Given the description of an element on the screen output the (x, y) to click on. 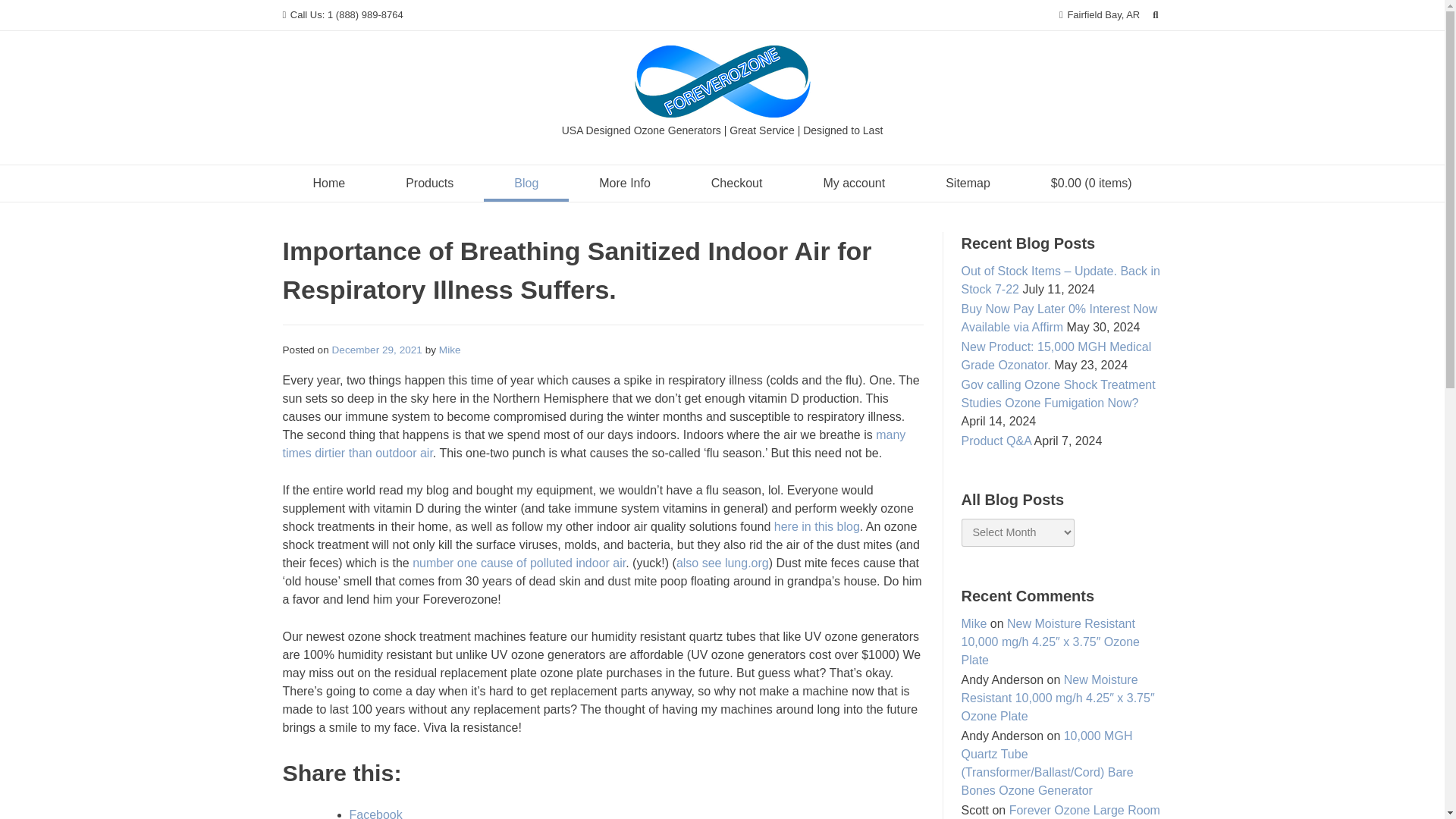
More Info (625, 183)
Click to share on Facebook (375, 813)
Products (429, 183)
Home (328, 183)
View your shopping cart (1090, 183)
Blog (526, 183)
Search (25, 9)
